Given the description of an element on the screen output the (x, y) to click on. 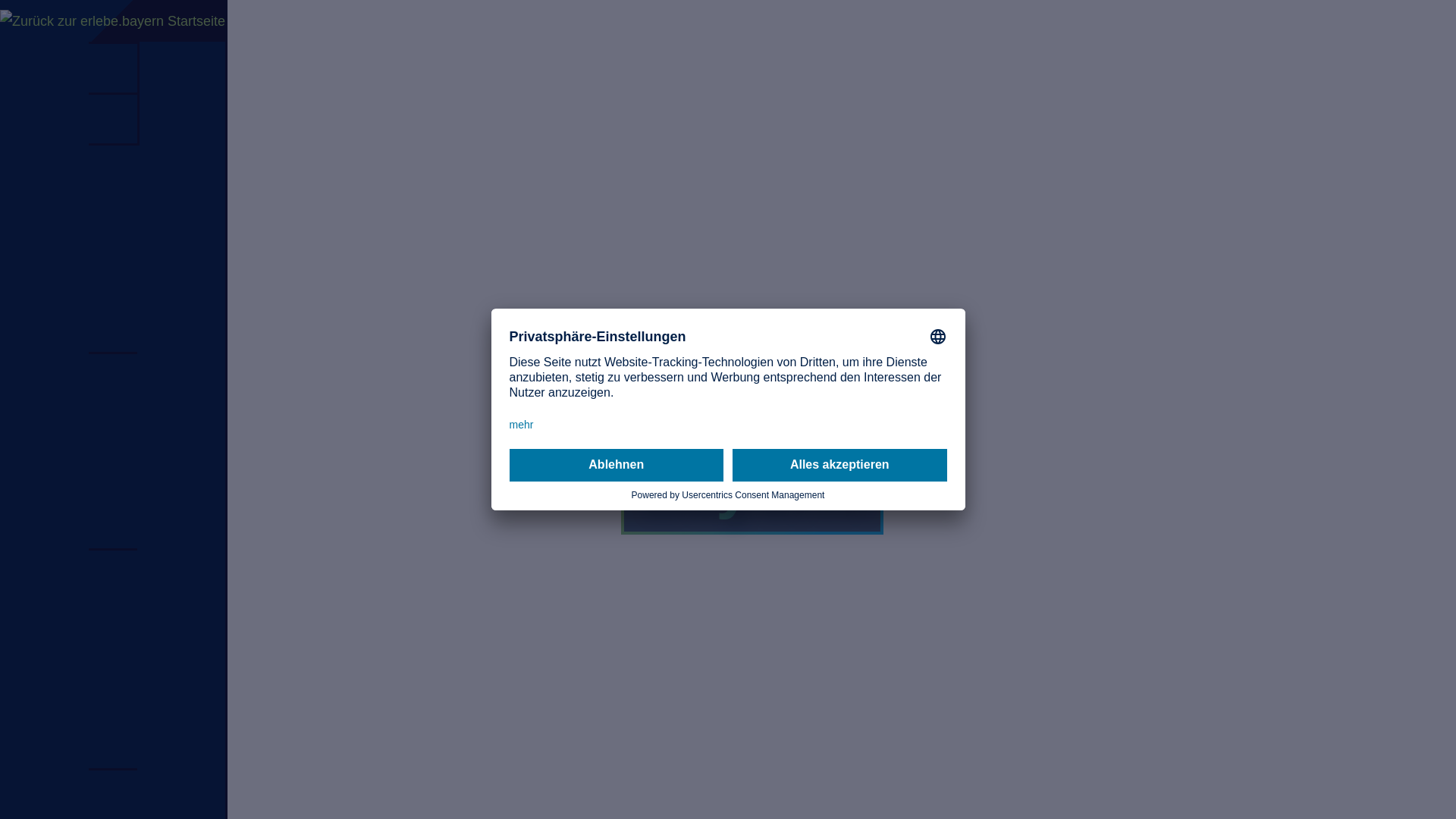
In die Stadt! Element type: hover (112, 378)
In die Berge! Element type: hover (112, 475)
Aufs Land! Element type: hover (112, 426)
Ans Wasser! Element type: hover (112, 523)
